Given the description of an element on the screen output the (x, y) to click on. 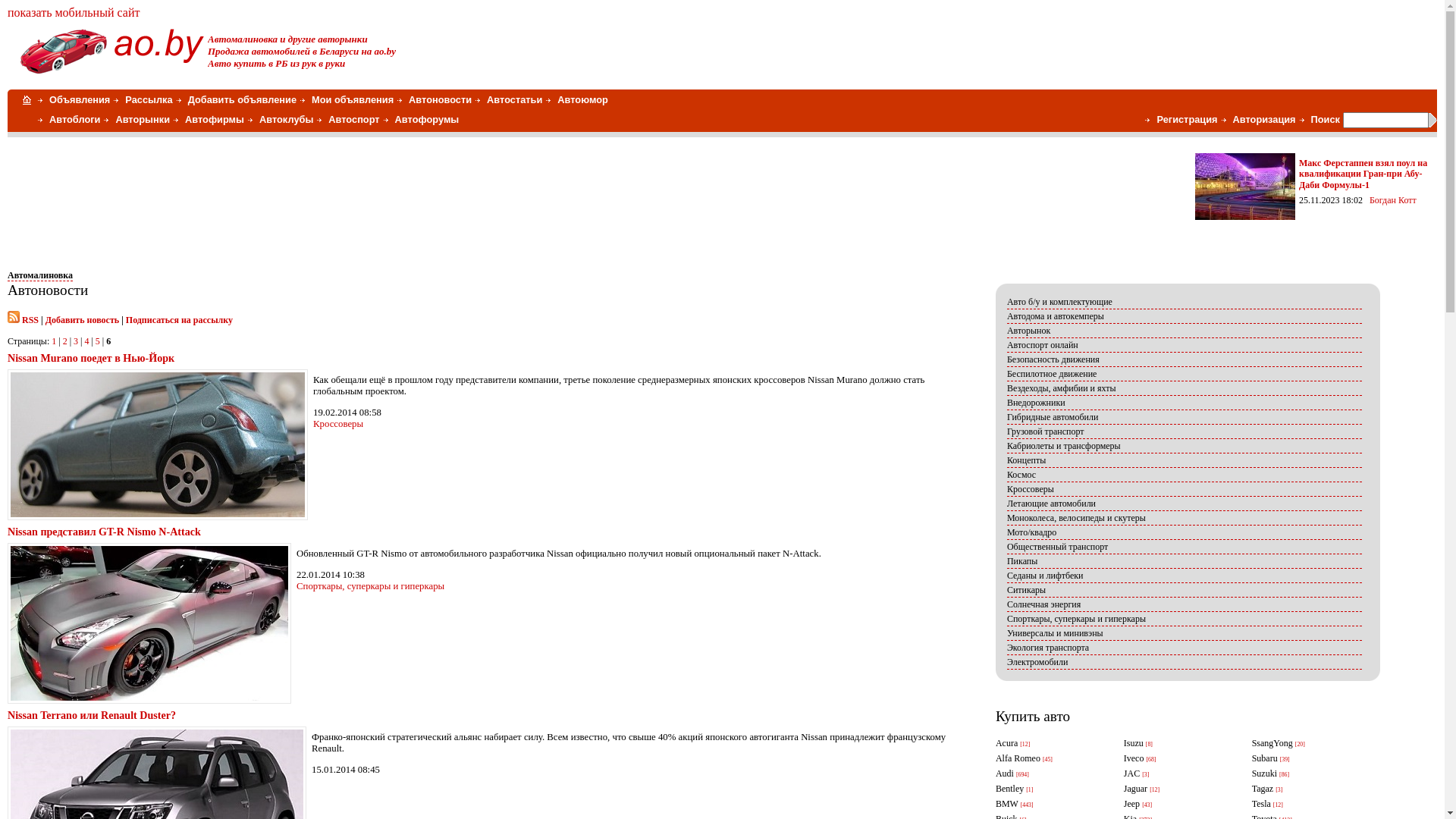
Isuzu [8] Element type: text (1178, 743)
2 Element type: text (64, 340)
Acura [12] Element type: text (1050, 743)
SsangYong [20] Element type: text (1306, 743)
Audi [694] Element type: text (1050, 773)
RSS Element type: text (29, 319)
Iveco [68] Element type: text (1178, 758)
BMW [443] Element type: text (1050, 804)
Suzuki [86] Element type: text (1306, 773)
JAC [3] Element type: text (1178, 773)
Alfa Romeo [45] Element type: text (1050, 758)
Jeep [43] Element type: text (1178, 804)
5 Element type: text (97, 340)
3 Element type: text (75, 340)
1 Element type: text (53, 340)
Subaru [39] Element type: text (1306, 758)
Tagaz [3] Element type: text (1306, 789)
4 Element type: text (86, 340)
Bentley [1] Element type: text (1050, 789)
Jaguar [12] Element type: text (1178, 789)
Tesla [12] Element type: text (1306, 804)
